Given the description of an element on the screen output the (x, y) to click on. 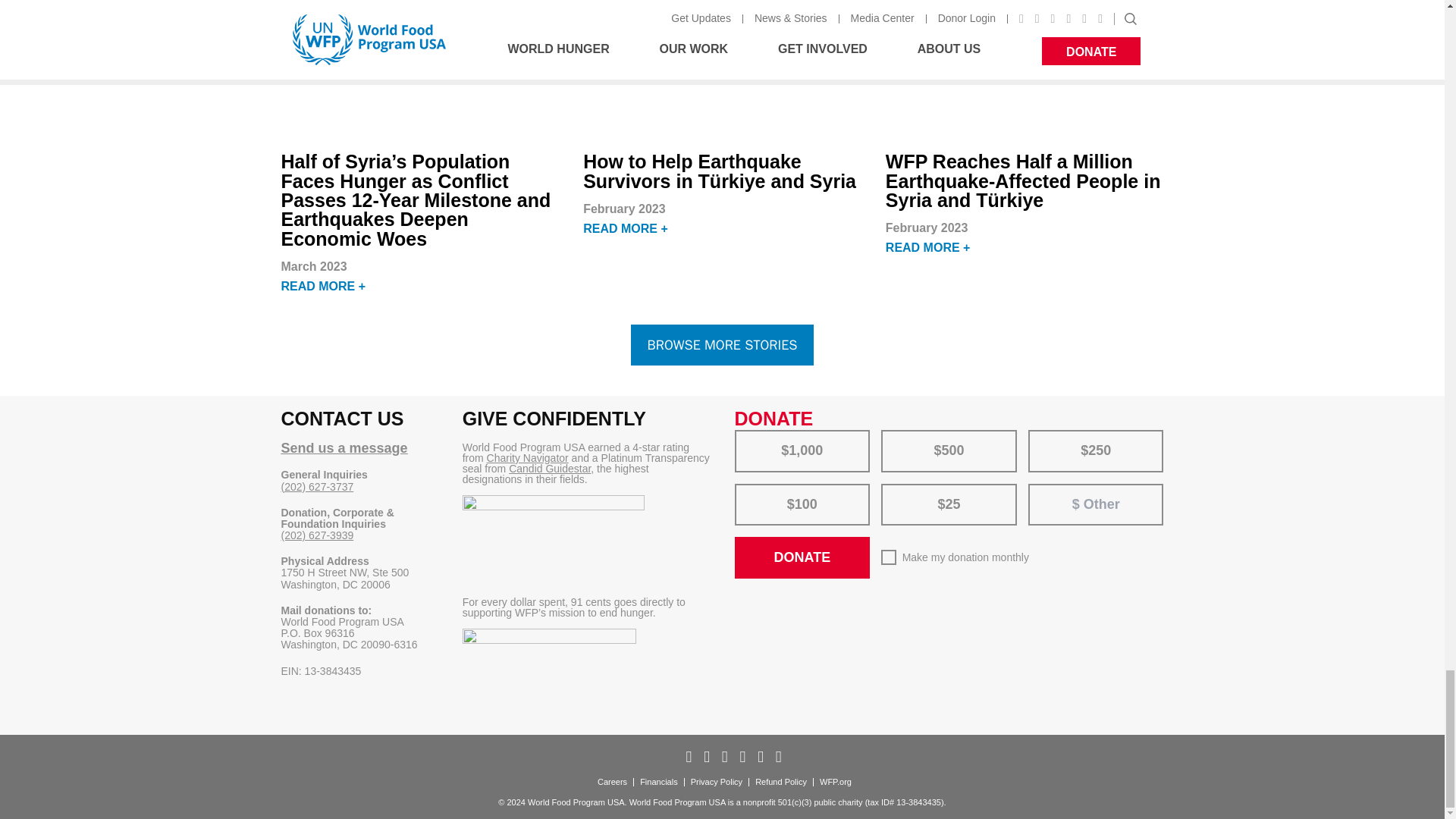
1,000 (744, 434)
250 (1038, 434)
100 (744, 488)
25 (891, 488)
custom (1046, 490)
500 (891, 434)
